Given the description of an element on the screen output the (x, y) to click on. 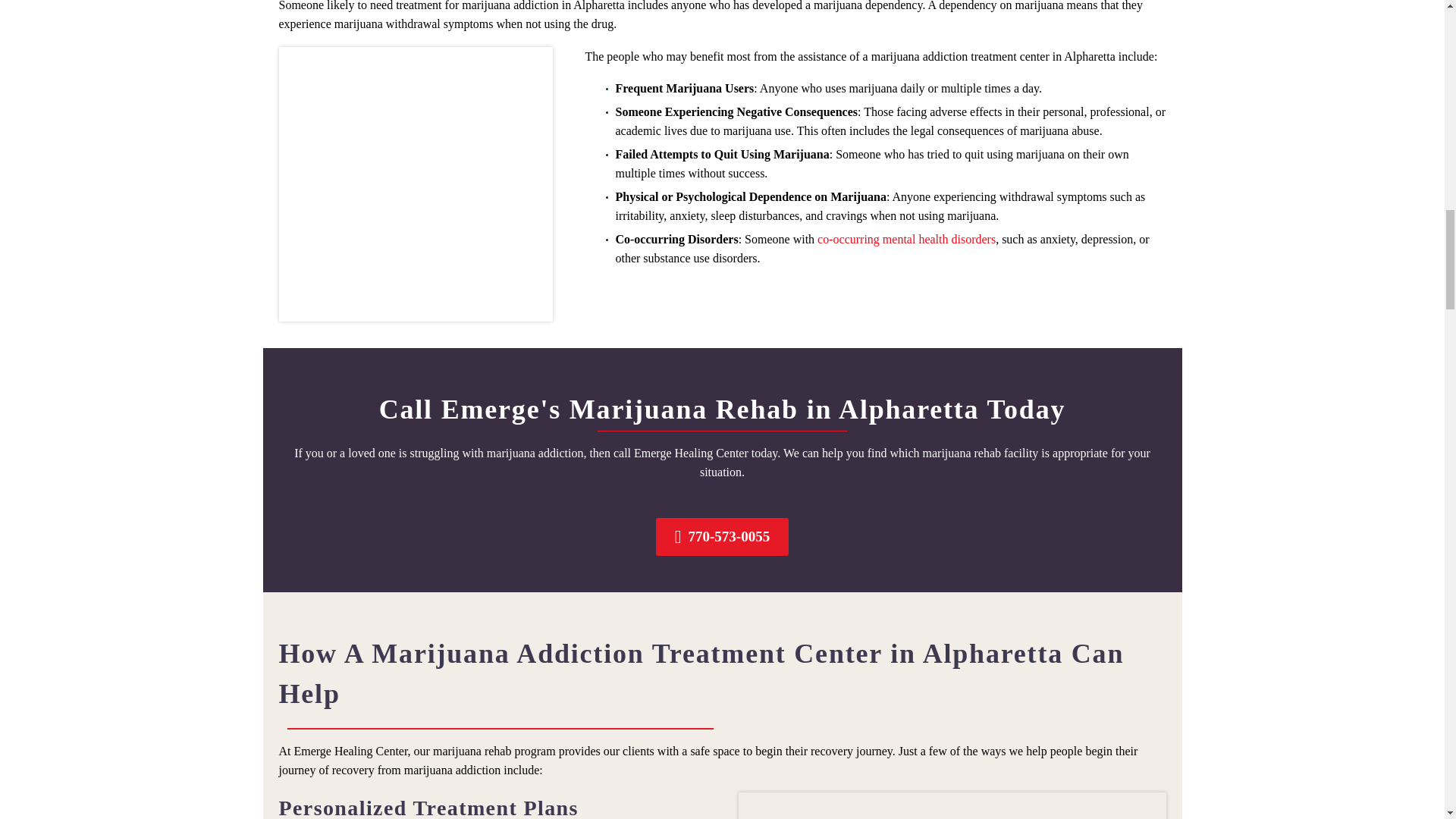
Call Today (722, 536)
Who Needs A Marijuana Rehab Facility? (416, 183)
